Given the description of an element on the screen output the (x, y) to click on. 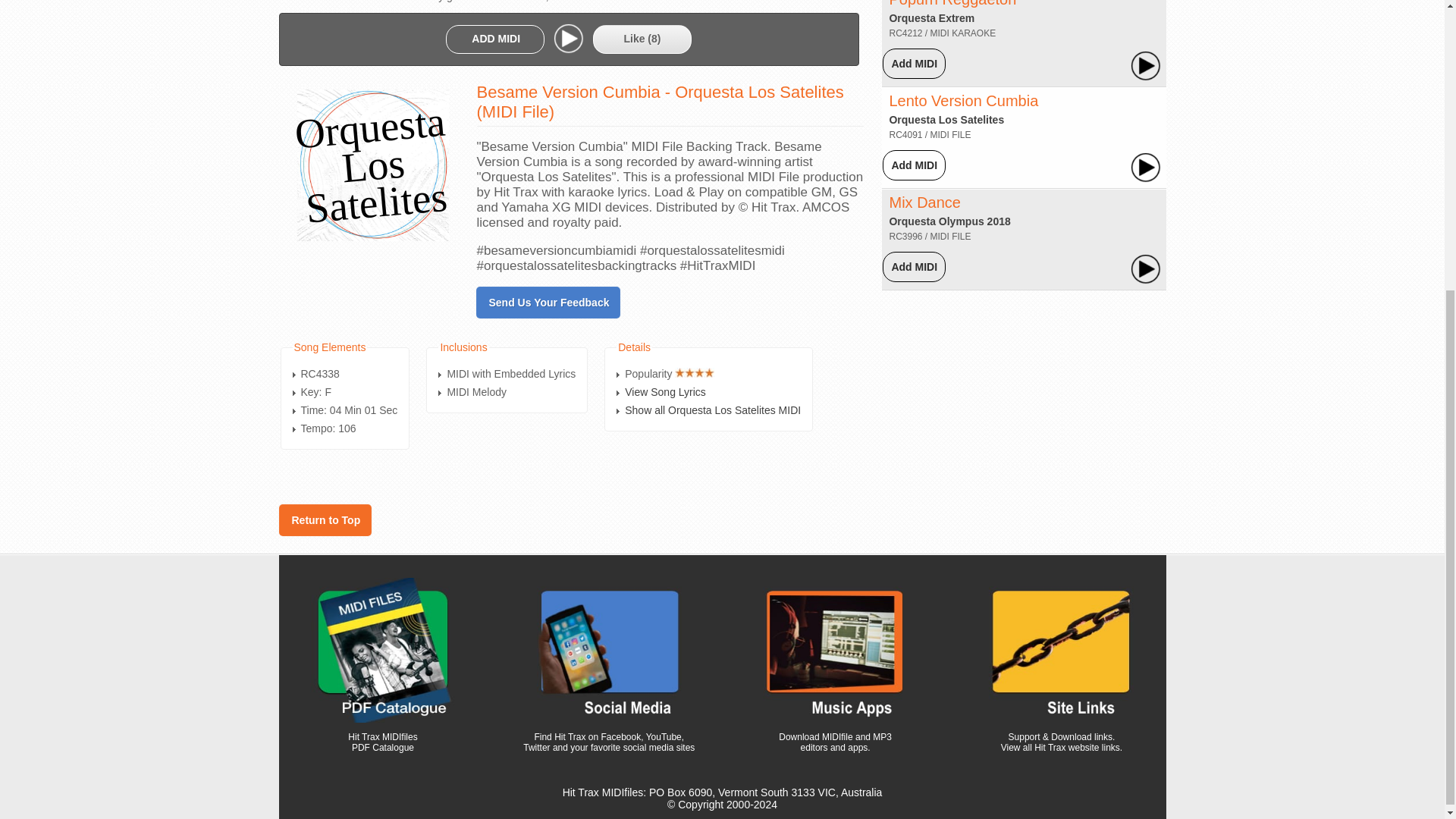
Play besame version cumbia (568, 38)
Return to Top (325, 520)
Lento Version Cumbia (963, 100)
Send Us Your Feedback (547, 302)
Add MIDI (914, 266)
Show all Orquesta Los Satelites MIDI (712, 410)
ADD MIDI (495, 38)
View Song Lyrics (665, 391)
Return to Top (325, 520)
Orquesta Los Satelites (946, 119)
Add MIDI (914, 164)
Add MIDI (914, 63)
Popurri Reggaeton (952, 3)
